Given the description of an element on the screen output the (x, y) to click on. 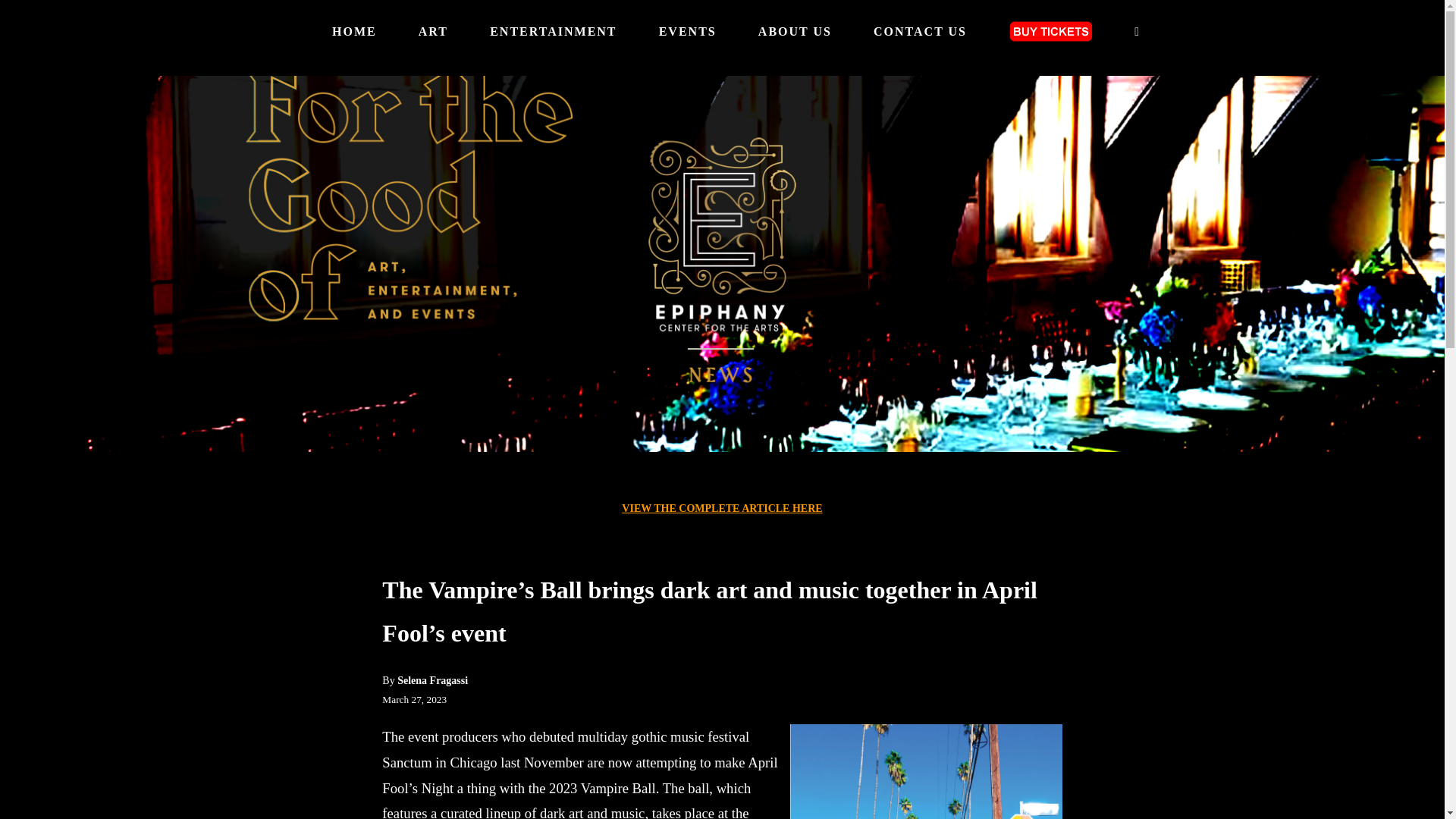
ABOUT US (794, 31)
EVENTS (687, 31)
CONTACT US (919, 31)
ENTERTAINMENT (552, 31)
